Given the description of an element on the screen output the (x, y) to click on. 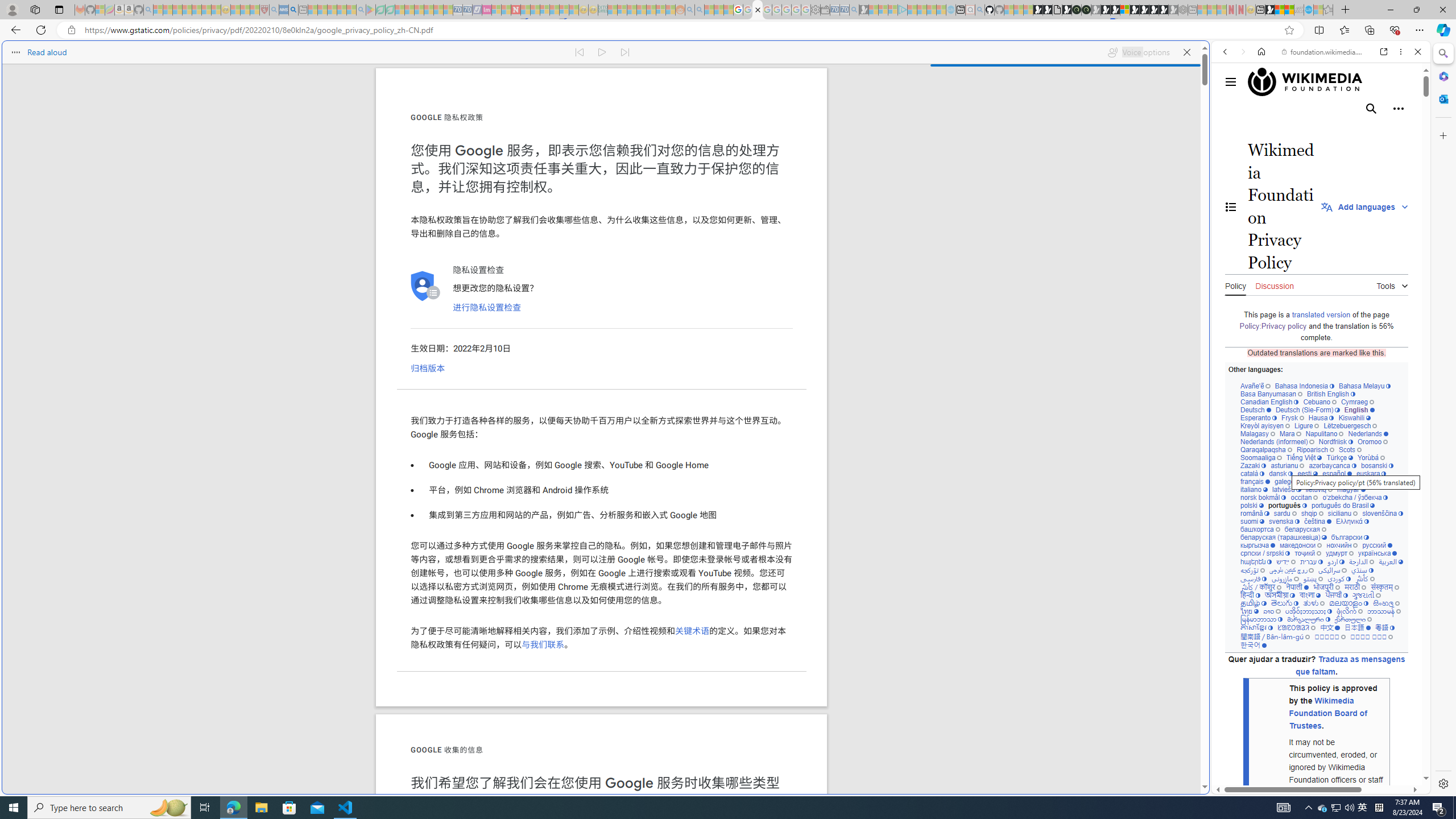
eesti (1307, 473)
github - Search - Sleeping (979, 9)
Microsoft Start - Sleeping (930, 9)
Cebuano (1319, 401)
Mara (1290, 433)
VIDEOS (1300, 130)
Basa Banyumasan (1271, 393)
suomi (1252, 520)
